Given the description of an element on the screen output the (x, y) to click on. 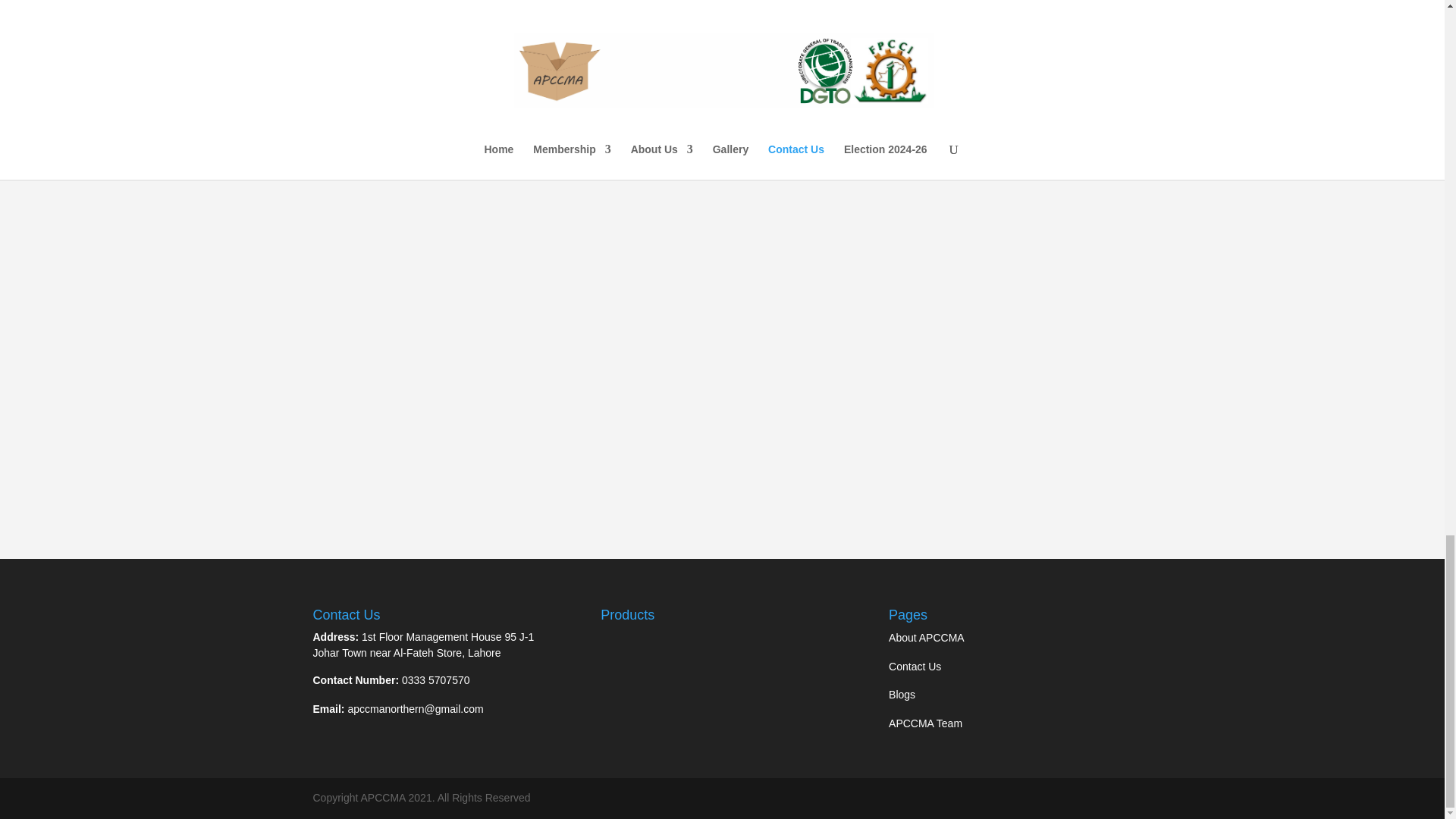
Blogs (901, 694)
Contact Us (914, 666)
About APCCMA (925, 637)
APCCMA Team (925, 723)
